Given the description of an element on the screen output the (x, y) to click on. 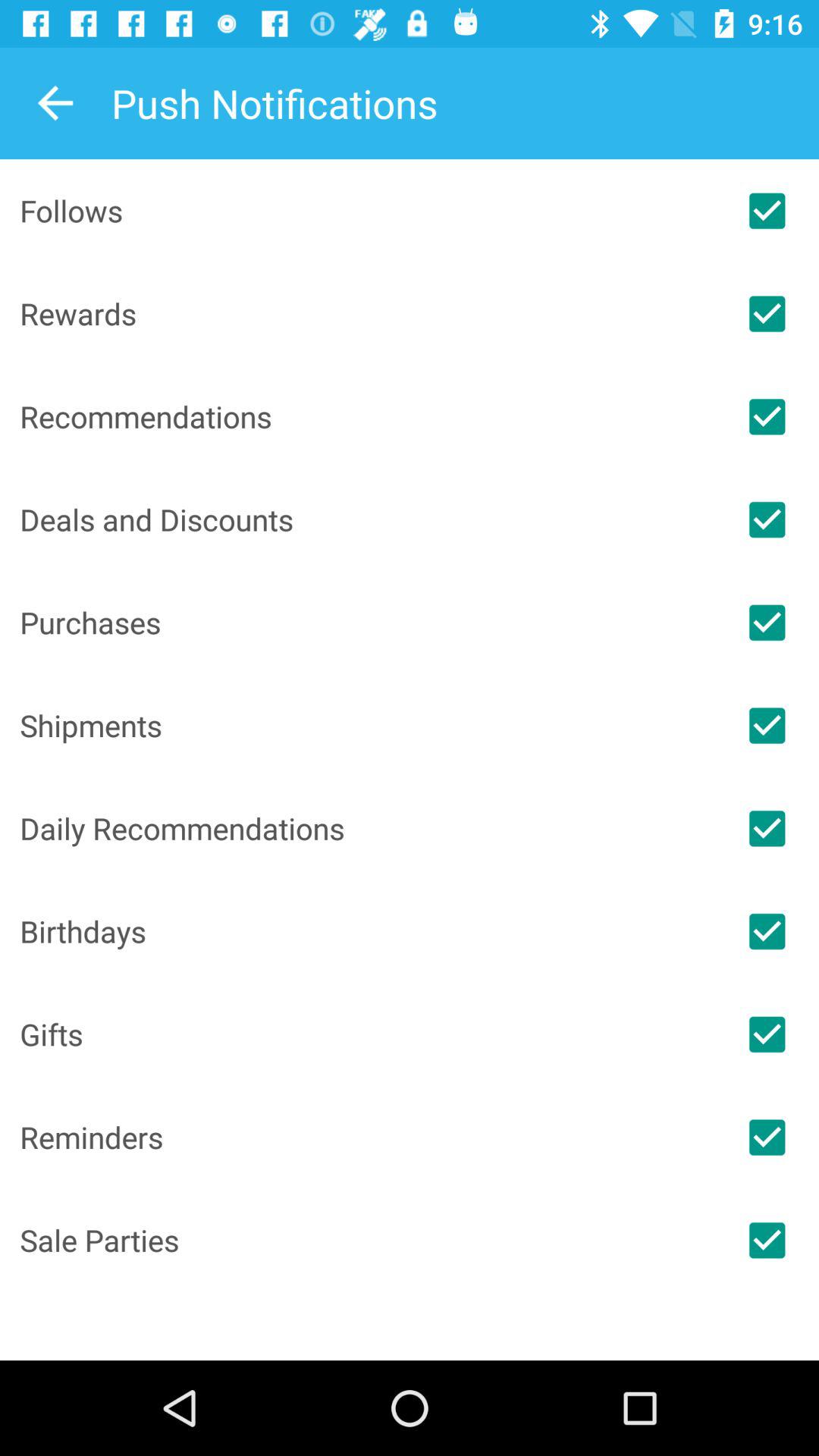
deselect notification type (767, 313)
